Given the description of an element on the screen output the (x, y) to click on. 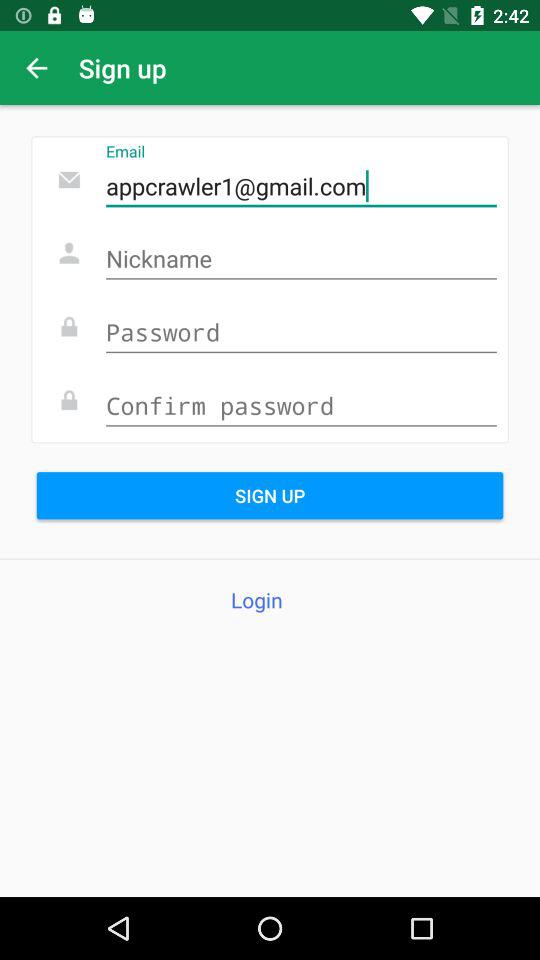
type the confirm password (301, 406)
